Given the description of an element on the screen output the (x, y) to click on. 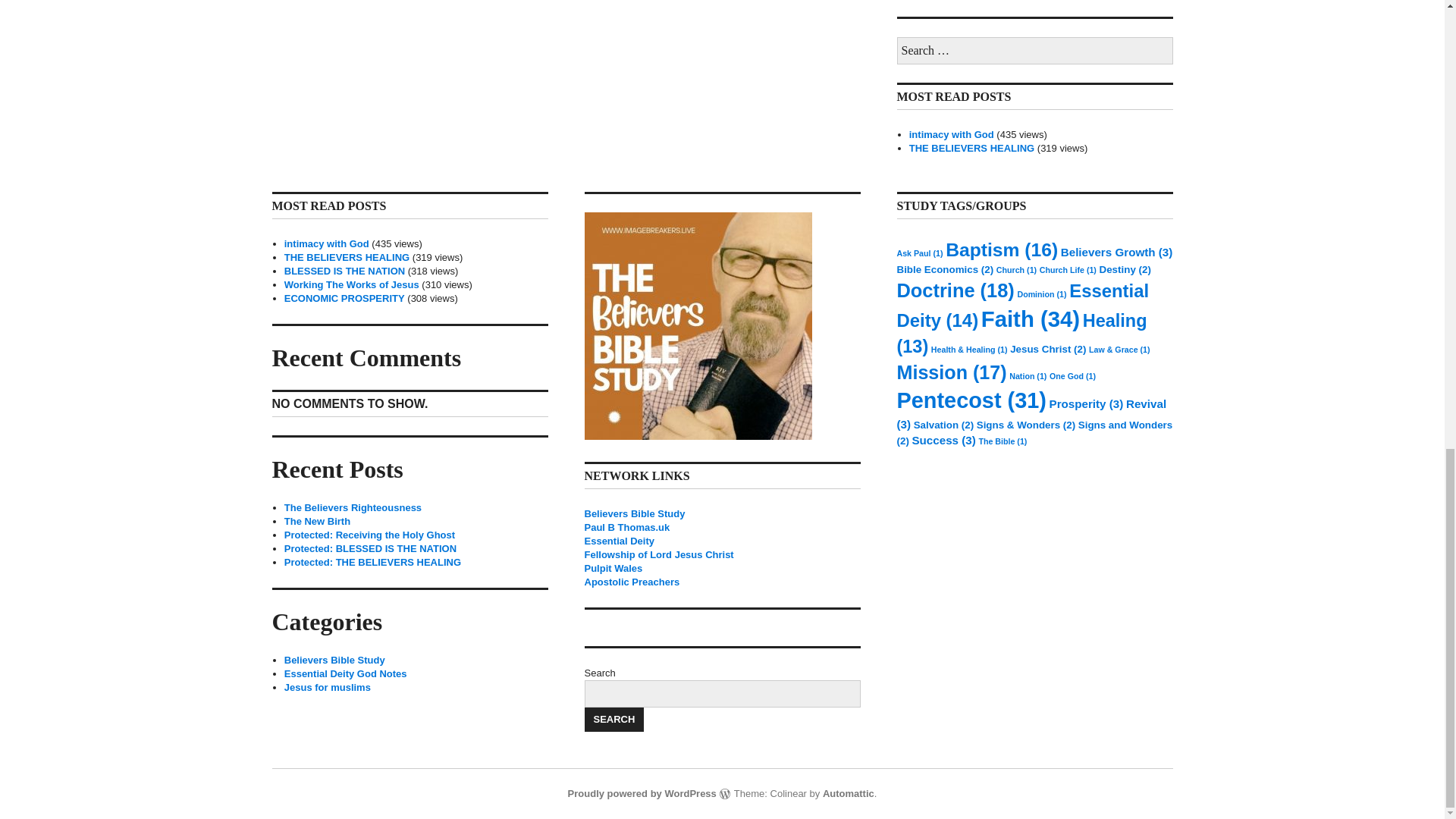
ECONOMIC PROSPERITY (343, 297)
BLESSED IS THE NATION (343, 270)
Paul B Thomas.uk (626, 527)
Protected: Receiving the Holy Ghost (368, 534)
The Believers Righteousness (352, 507)
Believers Bible Study (633, 513)
Protected: BLESSED IS THE NATION (370, 548)
Working The Works of Jesus (351, 284)
intimacy with God (326, 243)
THE BELIEVERS HEALING (346, 256)
